Given the description of an element on the screen output the (x, y) to click on. 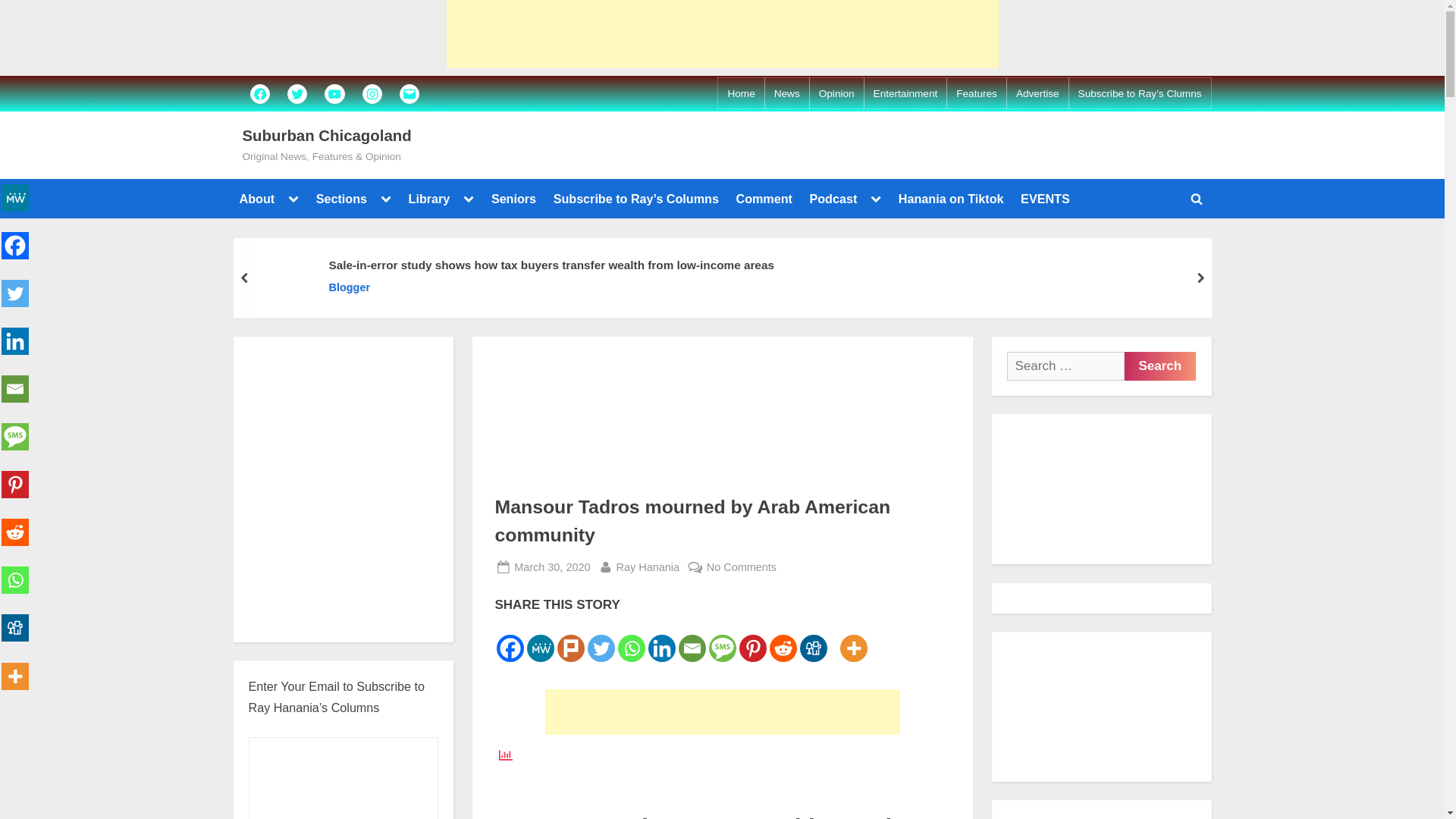
Instagram (371, 93)
Search (1159, 366)
Advertise (1037, 93)
Youtube (333, 93)
Toggle sub-menu (293, 198)
News (786, 93)
Entertainment (905, 93)
Suburban Chicagoland (327, 135)
Twitter (296, 93)
Features (976, 93)
Facebook (259, 93)
Home (740, 93)
Sections (341, 198)
Search (1159, 366)
About (256, 198)
